Given the description of an element on the screen output the (x, y) to click on. 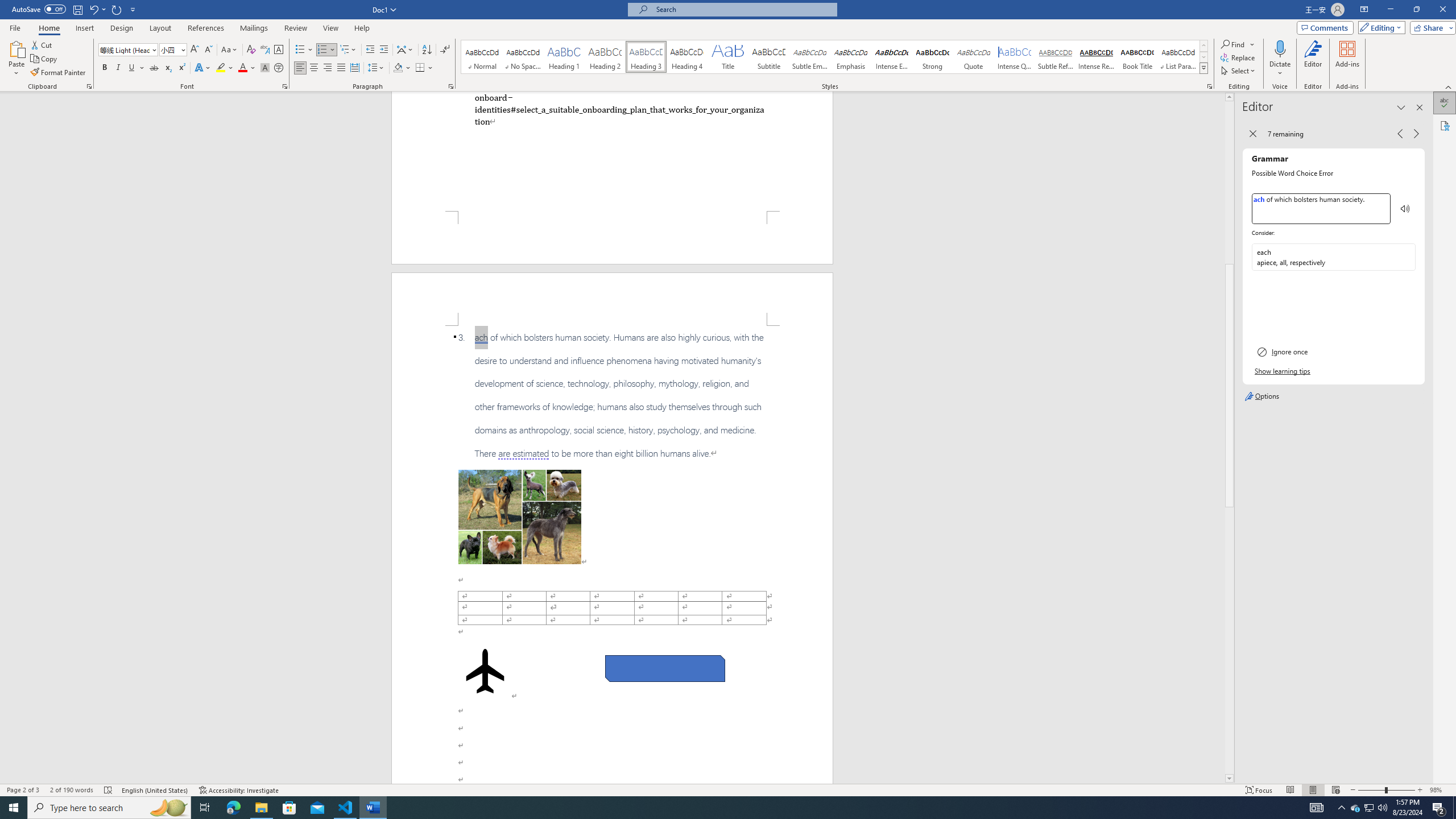
Text Highlight Color Yellow (220, 67)
Zoom In (1420, 790)
Repeat Style (117, 9)
Line and Paragraph Spacing (376, 67)
Design (122, 28)
Shading (402, 67)
Editing (1379, 27)
Rectangle: Diagonal Corners Snipped 2 (665, 668)
Task Pane Options (1400, 107)
Layout (160, 28)
Enclose Characters... (278, 67)
Emphasis (849, 56)
